Given the description of an element on the screen output the (x, y) to click on. 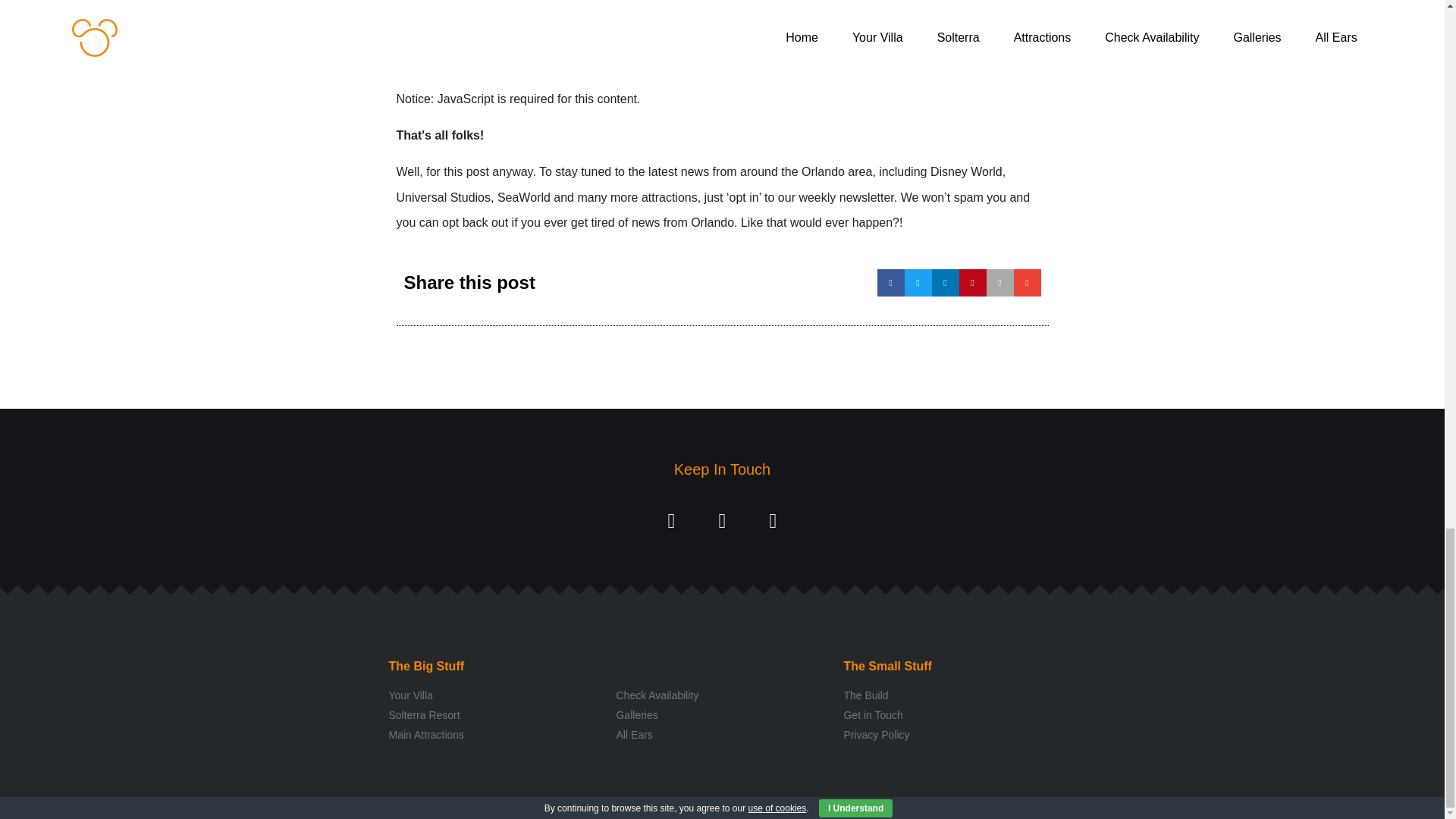
BlogMickey.com (692, 37)
Your Villa (493, 695)
